Given the description of an element on the screen output the (x, y) to click on. 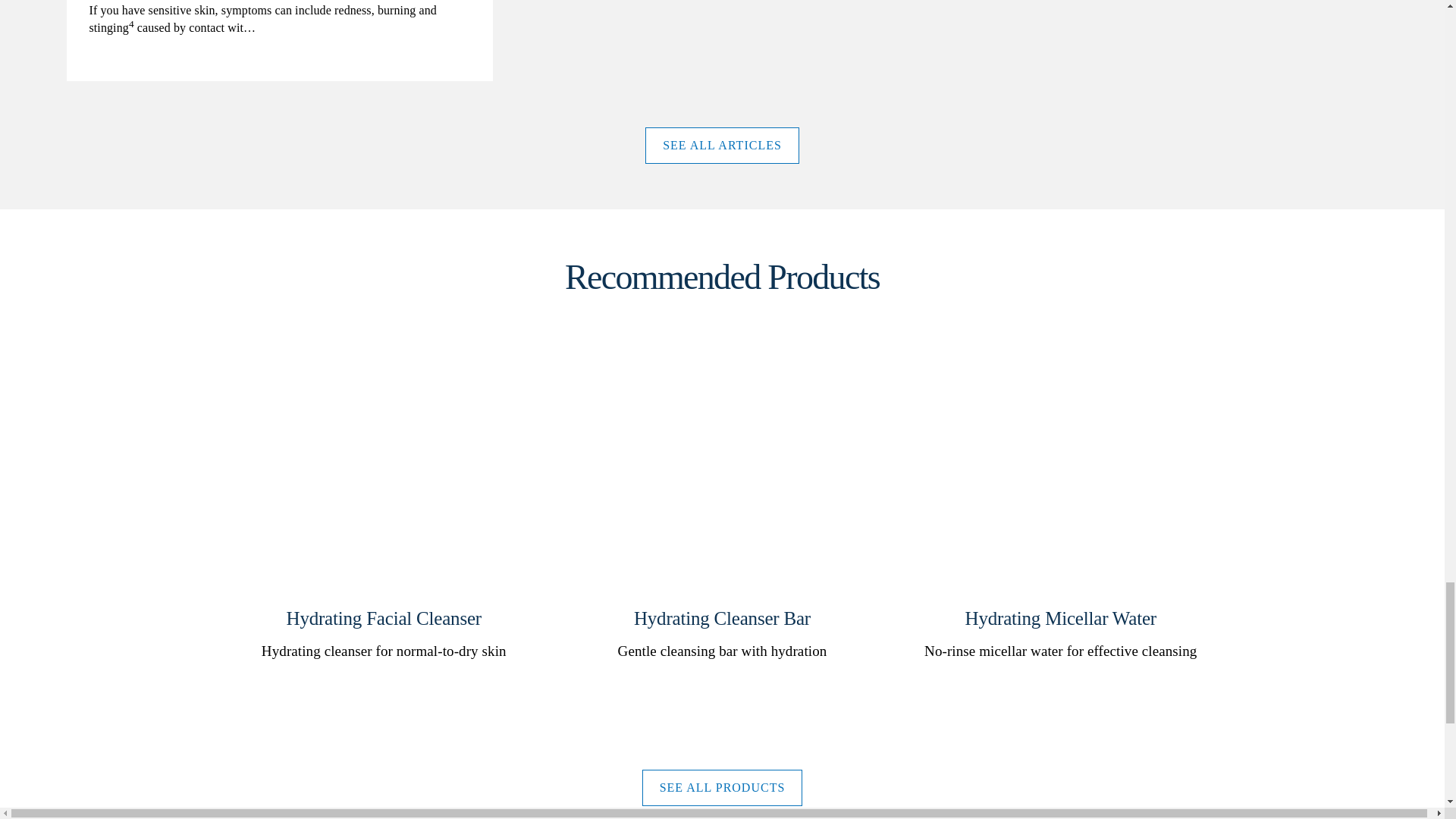
Back shoulder sensitive and irritated skin (279, 40)
